Given the description of an element on the screen output the (x, y) to click on. 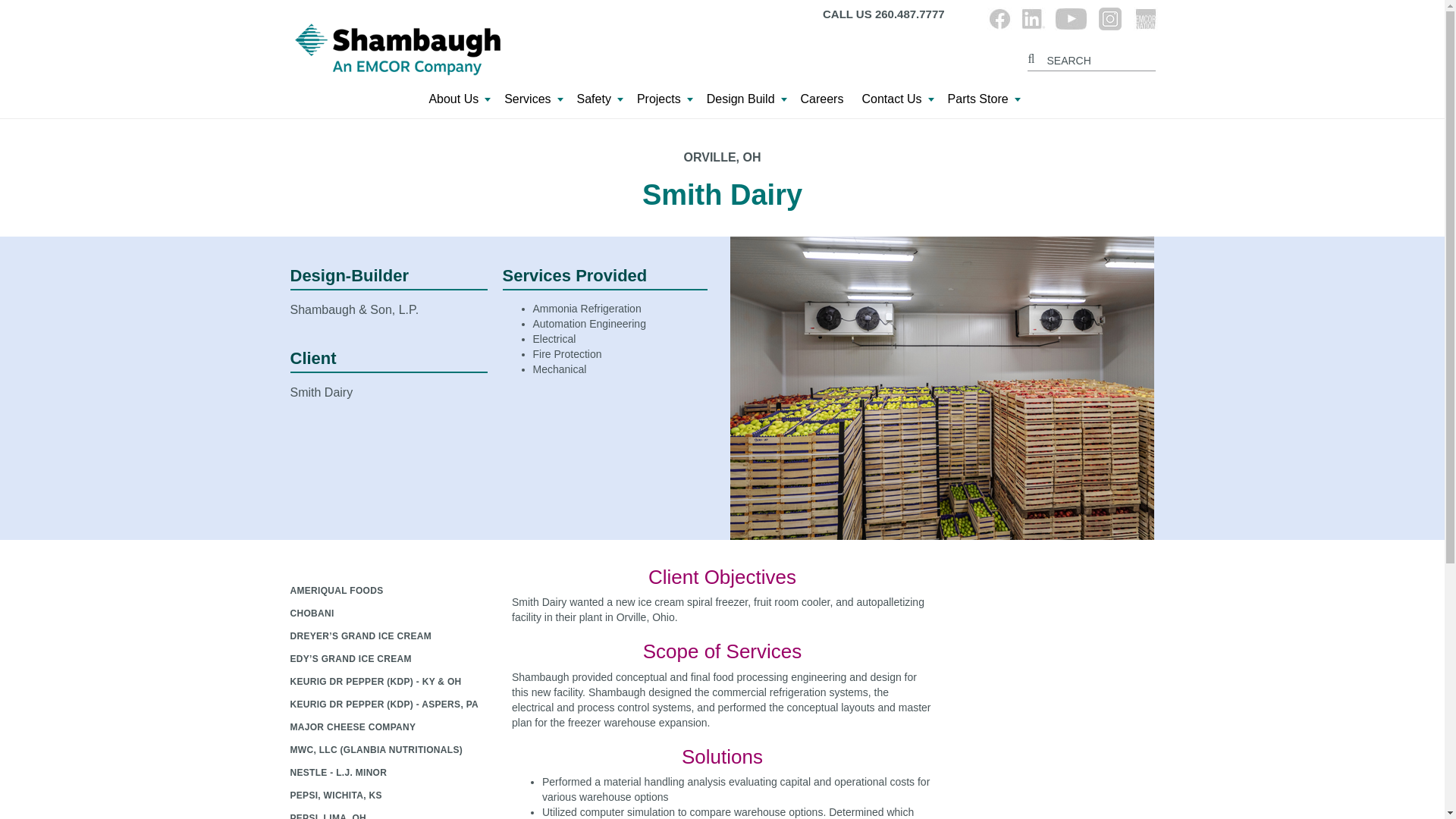
Projects (662, 102)
About Us (457, 102)
Services (531, 102)
260.487.7777 (909, 13)
Safety (597, 102)
